Given the description of an element on the screen output the (x, y) to click on. 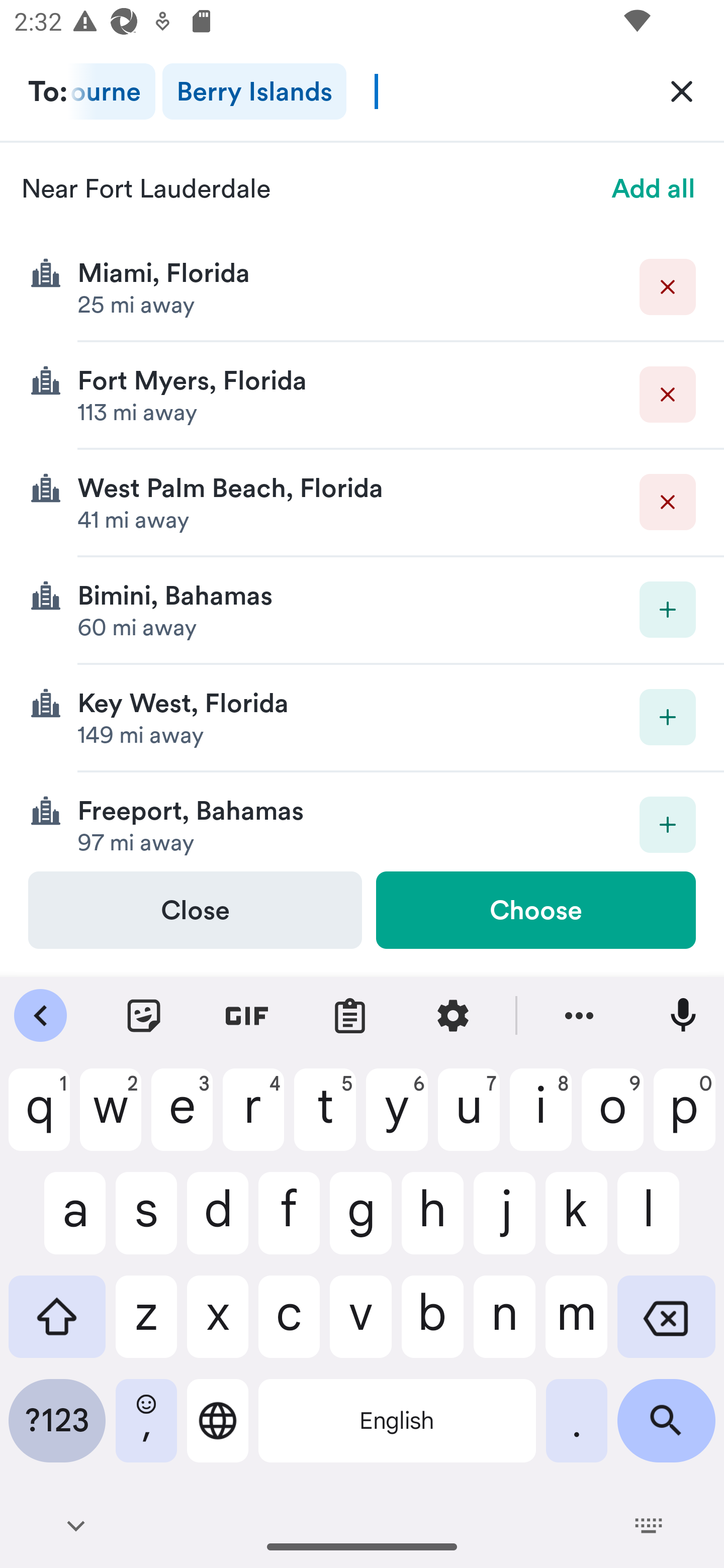
Clear All (681, 90)
Melbourne (111, 91)
Berry Islands (254, 91)
Add all (653, 187)
Delete Miami, Florida 25 mi away (362, 287)
Delete (667, 286)
Delete Fort Myers, Florida 113 mi away (362, 395)
Delete (667, 394)
Delete West Palm Beach, Florida 41 mi away (362, 503)
Delete (667, 501)
Add destination Bimini, Bahamas 60 mi away (362, 610)
Add destination (667, 609)
Add destination Key West, Florida 149 mi away (362, 717)
Add destination (667, 716)
Add destination Freeport, Bahamas 97 mi away (362, 821)
Add destination (667, 824)
Close (195, 909)
Choose (535, 909)
